Given the description of an element on the screen output the (x, y) to click on. 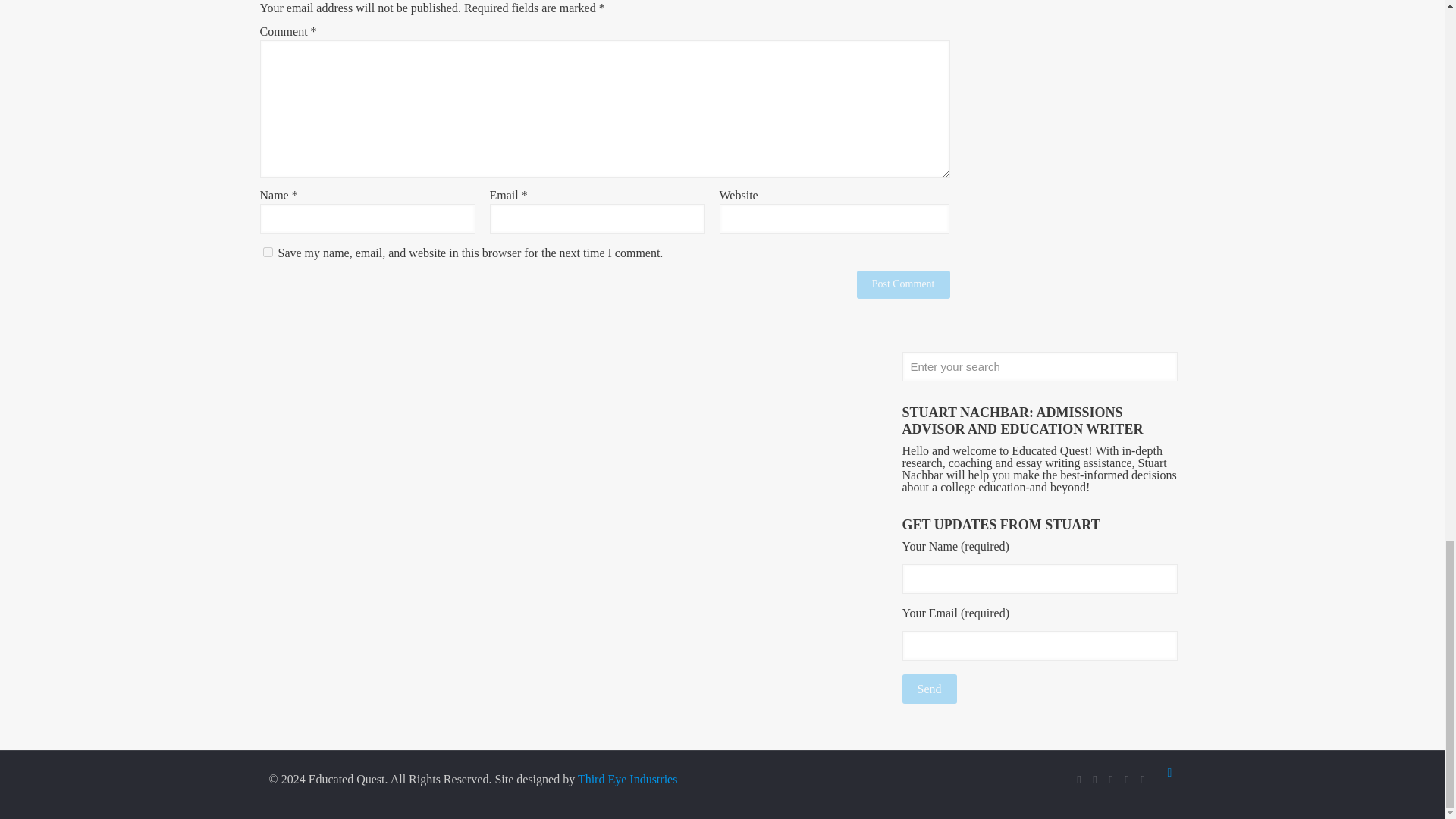
Facebook (1094, 779)
yes (267, 252)
Skype (1079, 779)
Send (929, 688)
Pinterest (1142, 779)
LinkedIn (1126, 779)
Post Comment (903, 284)
